Given the description of an element on the screen output the (x, y) to click on. 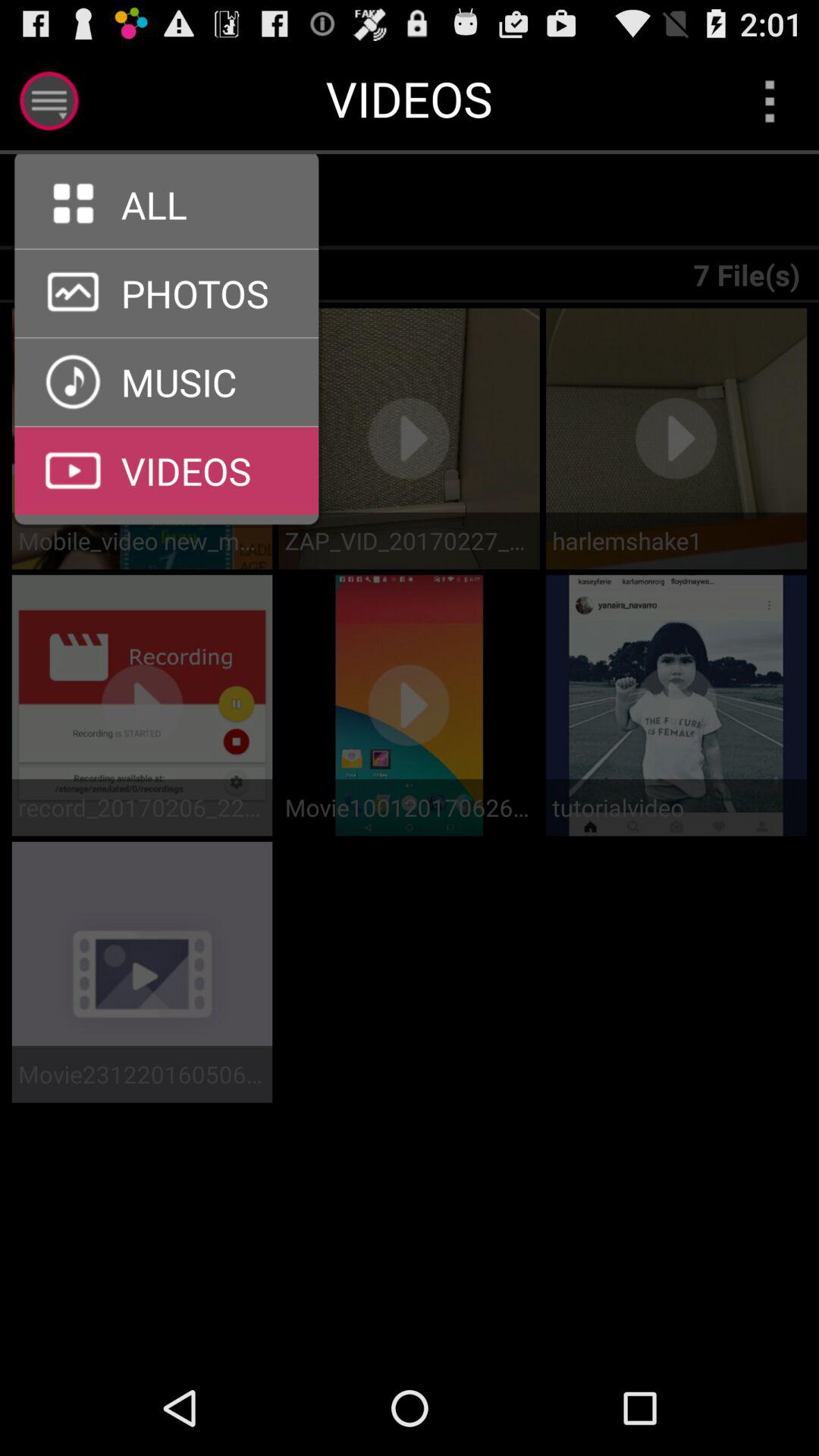
open menu (48, 100)
